Given the description of an element on the screen output the (x, y) to click on. 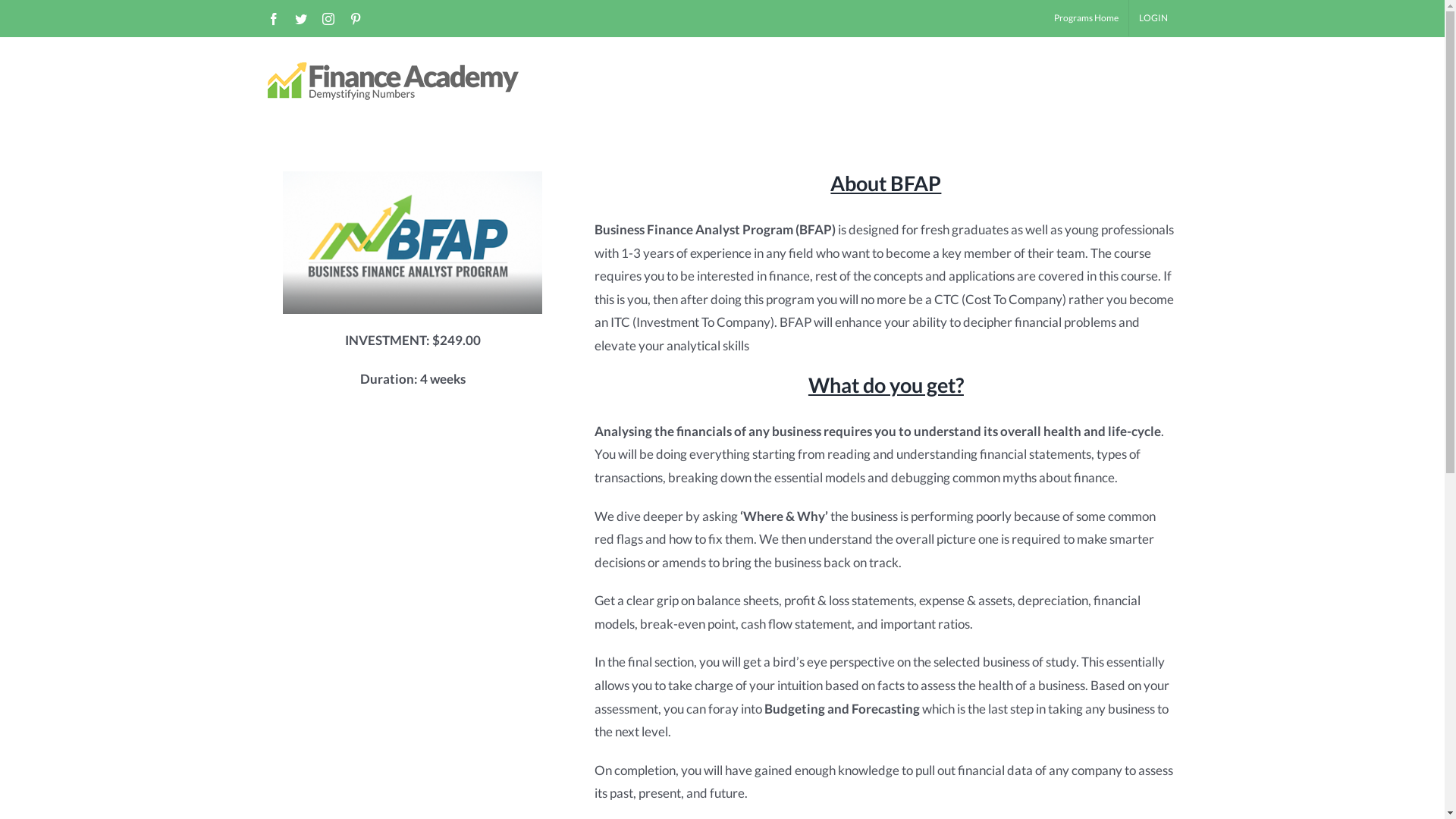
instagram Element type: text (327, 18)
facebook Element type: text (272, 18)
Programs Home Element type: text (1085, 18)
pinterest Element type: text (354, 18)
LOGIN Element type: text (1152, 18)
twitter Element type: text (300, 18)
